Given the description of an element on the screen output the (x, y) to click on. 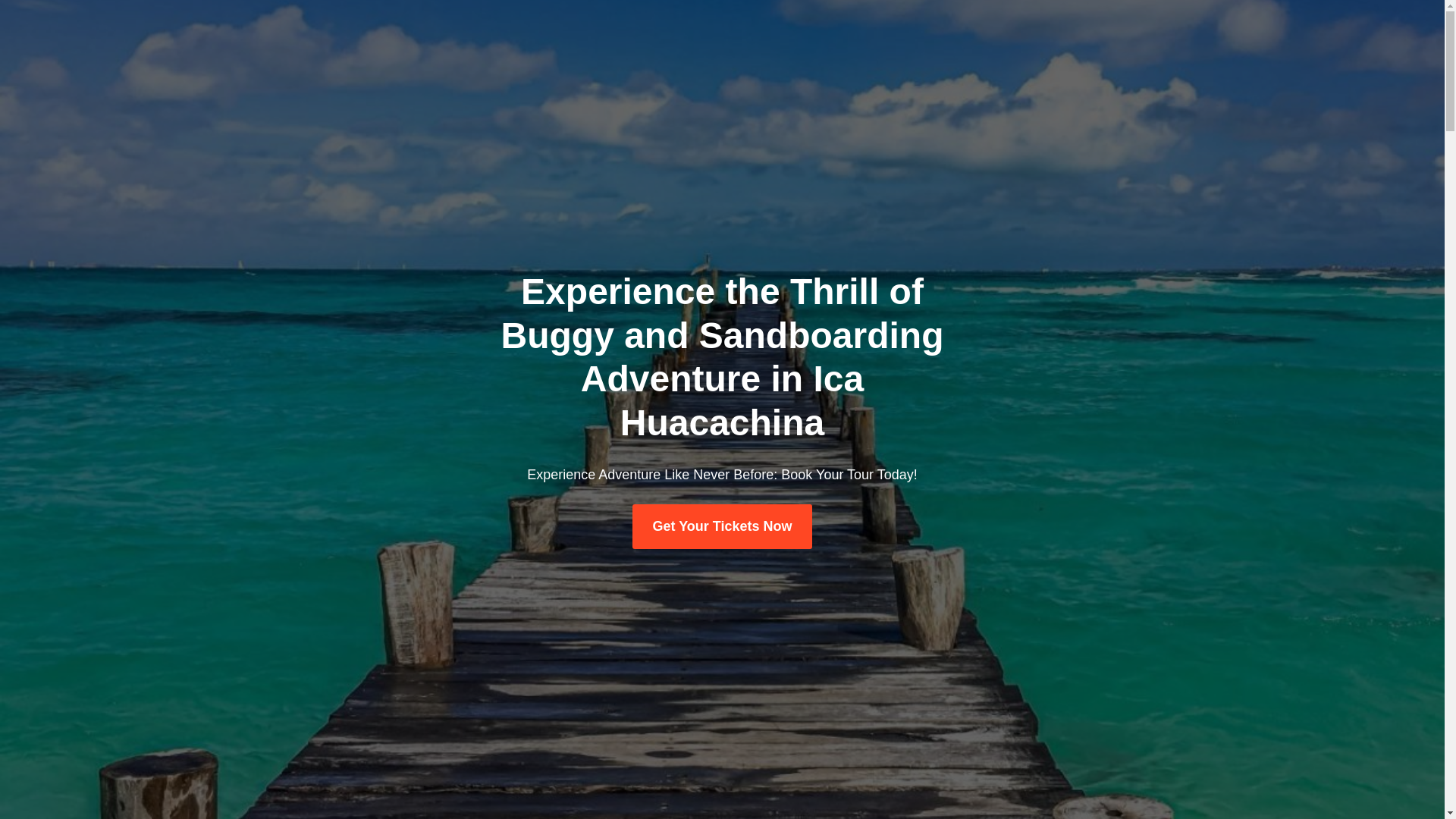
Get Your Tickets Now (720, 526)
